Given the description of an element on the screen output the (x, y) to click on. 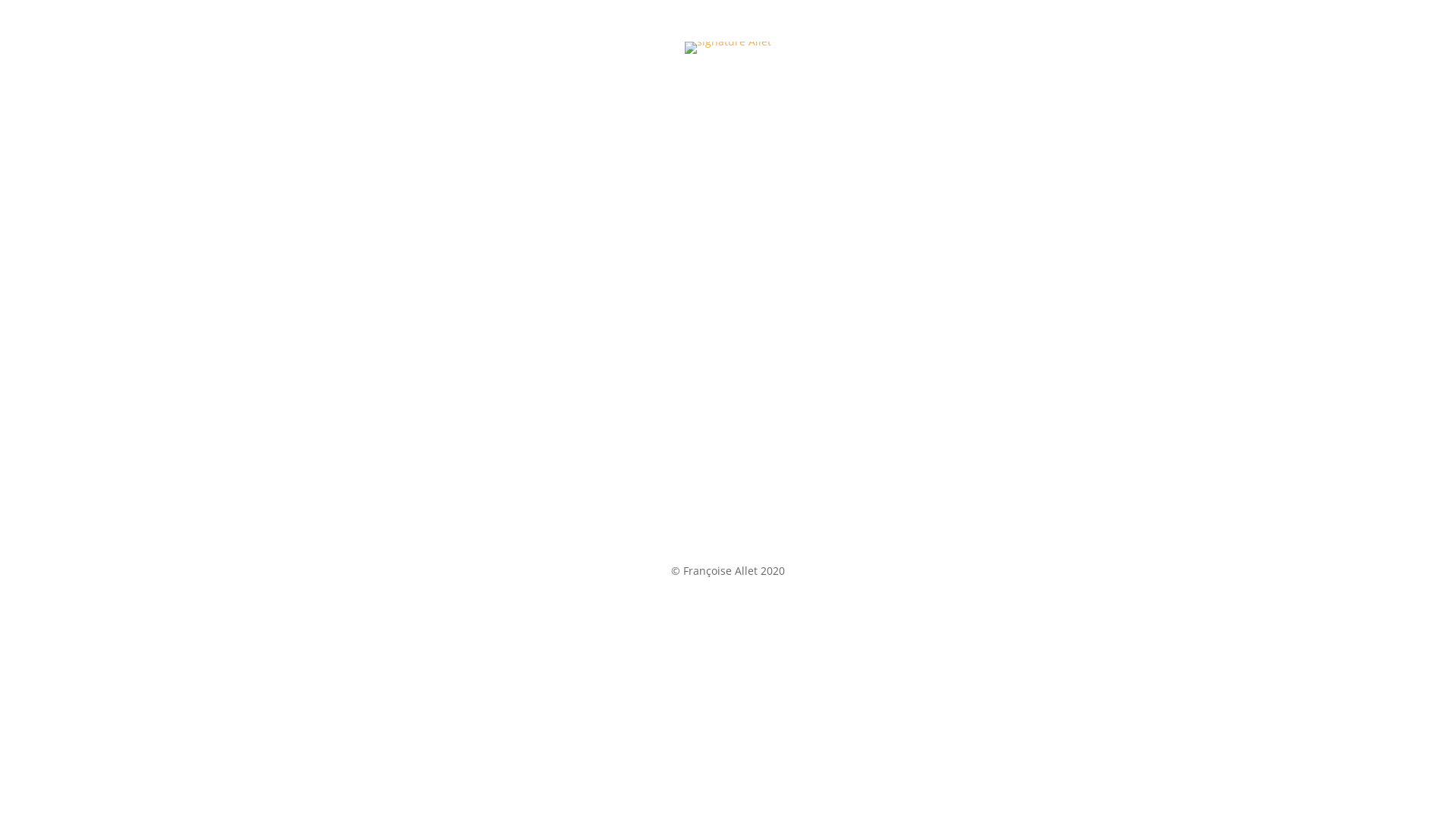
signaturDtoursAllet Element type: hover (727, 47)
